Given the description of an element on the screen output the (x, y) to click on. 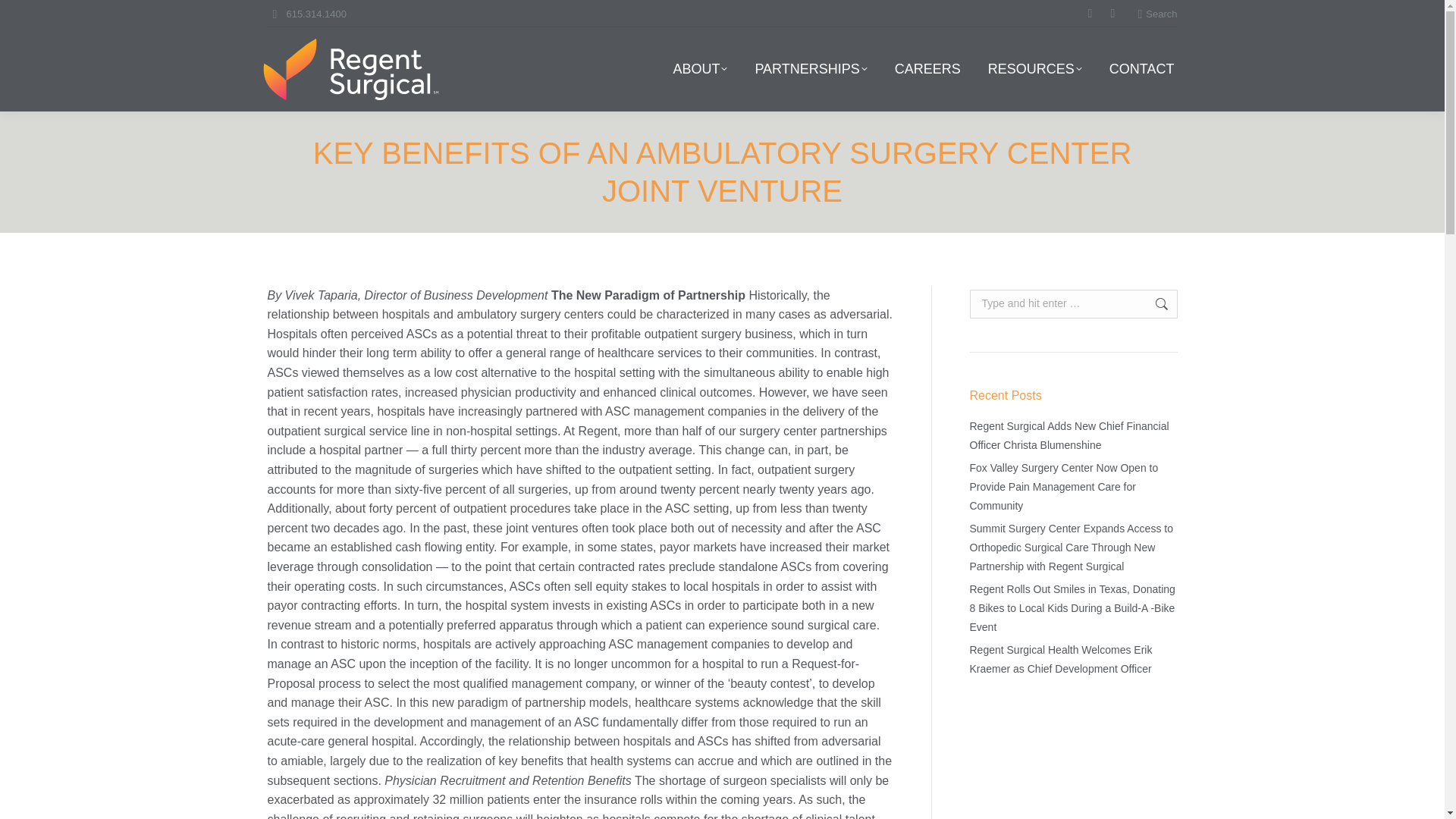
CONTACT (1141, 68)
Facebook page opens in new window (1112, 13)
Go! (24, 16)
Search (1156, 12)
ABOUT (699, 68)
Go! (1153, 303)
615.314.1400 (316, 12)
Go! (1153, 303)
Linkedin page opens in new window (1089, 13)
Linkedin page opens in new window (1089, 13)
RESOURCES (1034, 68)
Facebook page opens in new window (1112, 13)
PARTNERSHIPS (810, 68)
CAREERS (927, 68)
